Given the description of an element on the screen output the (x, y) to click on. 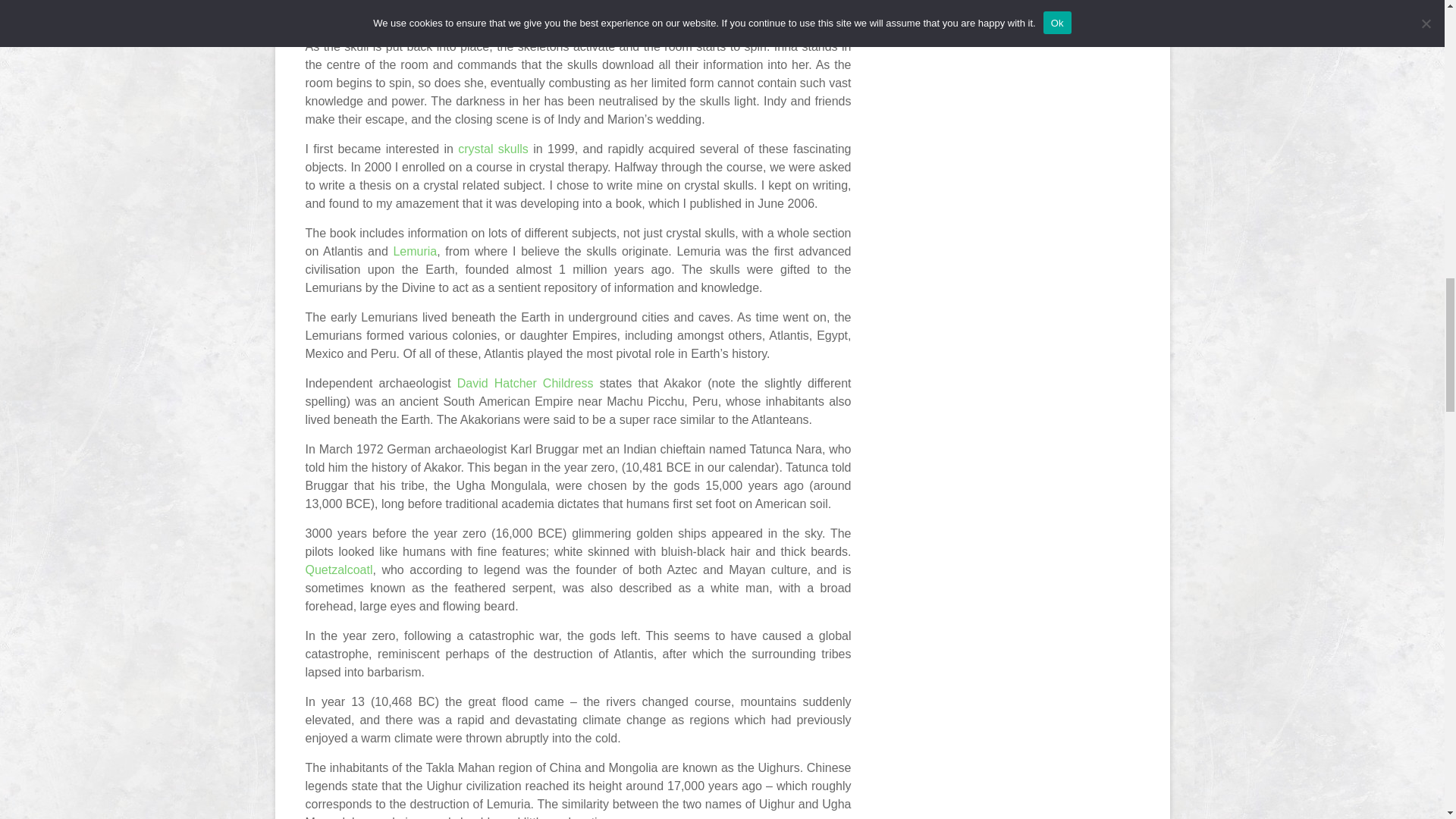
crystal skulls (493, 148)
Lemuria (414, 250)
Quetzalcoatl (338, 569)
David Hatcher Childress (525, 382)
Lemuria (414, 250)
Quetzalcoatl (338, 569)
